Given the description of an element on the screen output the (x, y) to click on. 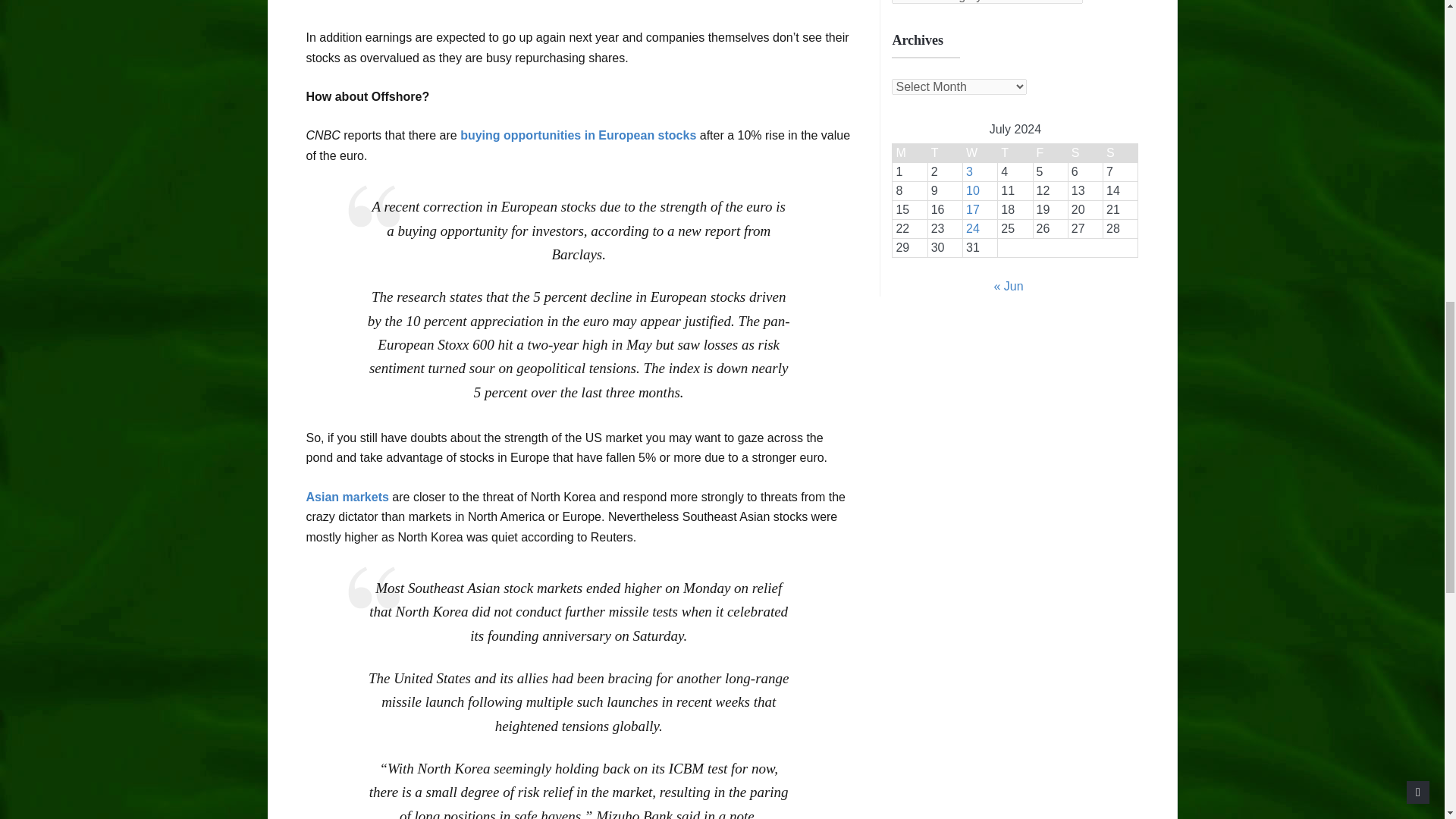
24 (972, 228)
Sunday (1120, 153)
buying opportunities in European stocks (577, 134)
10 (972, 190)
Friday (1049, 153)
Saturday (1084, 153)
Thursday (1014, 153)
Wednesday (979, 153)
Asian markets (346, 496)
Tuesday (944, 153)
3 (969, 171)
Monday (909, 153)
17 (972, 209)
